Given the description of an element on the screen output the (x, y) to click on. 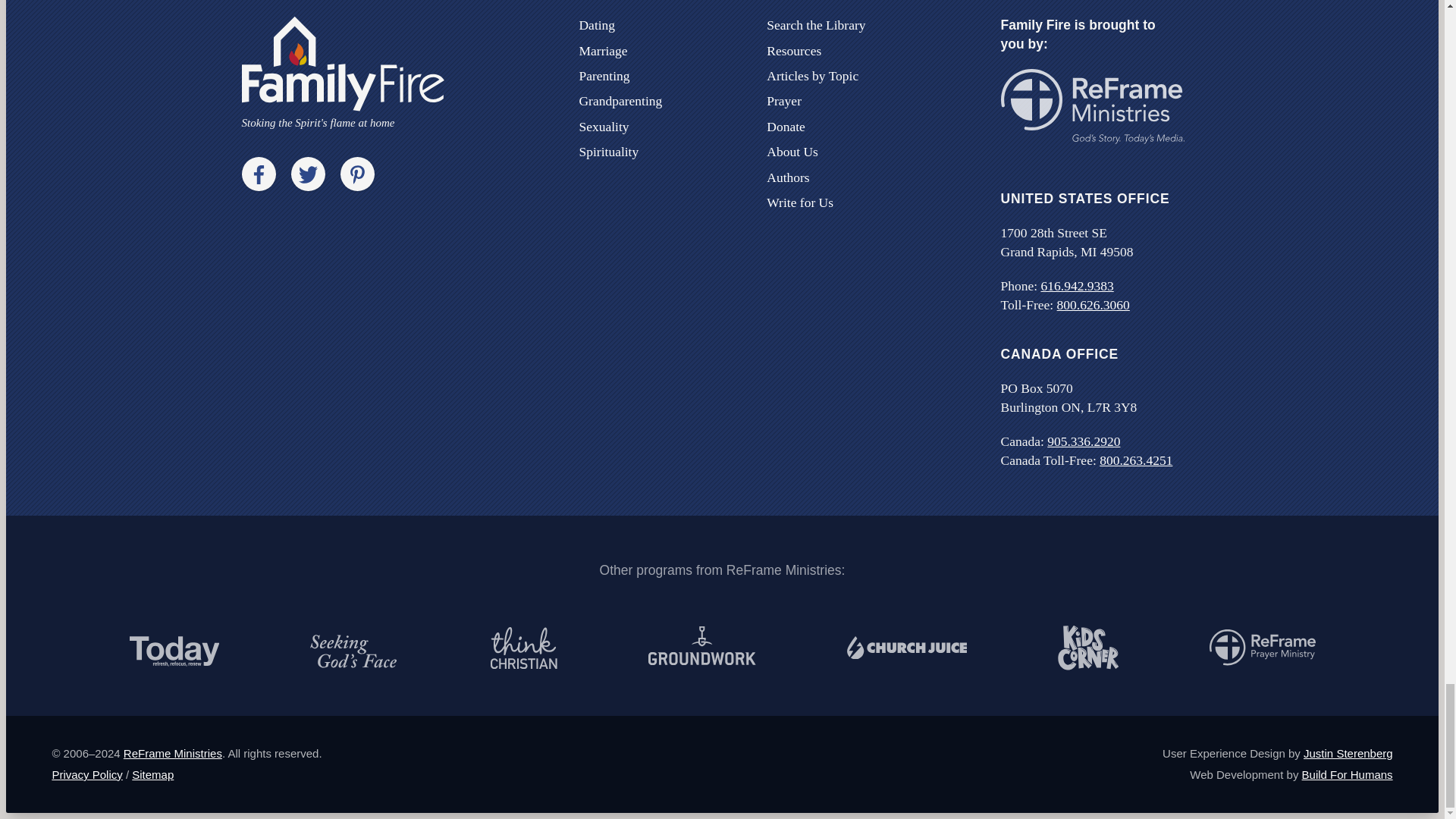
Authors (788, 177)
Donate (786, 126)
About Us (792, 151)
Sexuality (603, 126)
Spirituality (608, 151)
Stoking the Spirit's flame at home (342, 72)
Church Juice - Energizing Church Communications (905, 647)
Family Fire (342, 72)
Dating (596, 24)
Articles by Topic (813, 75)
